Given the description of an element on the screen output the (x, y) to click on. 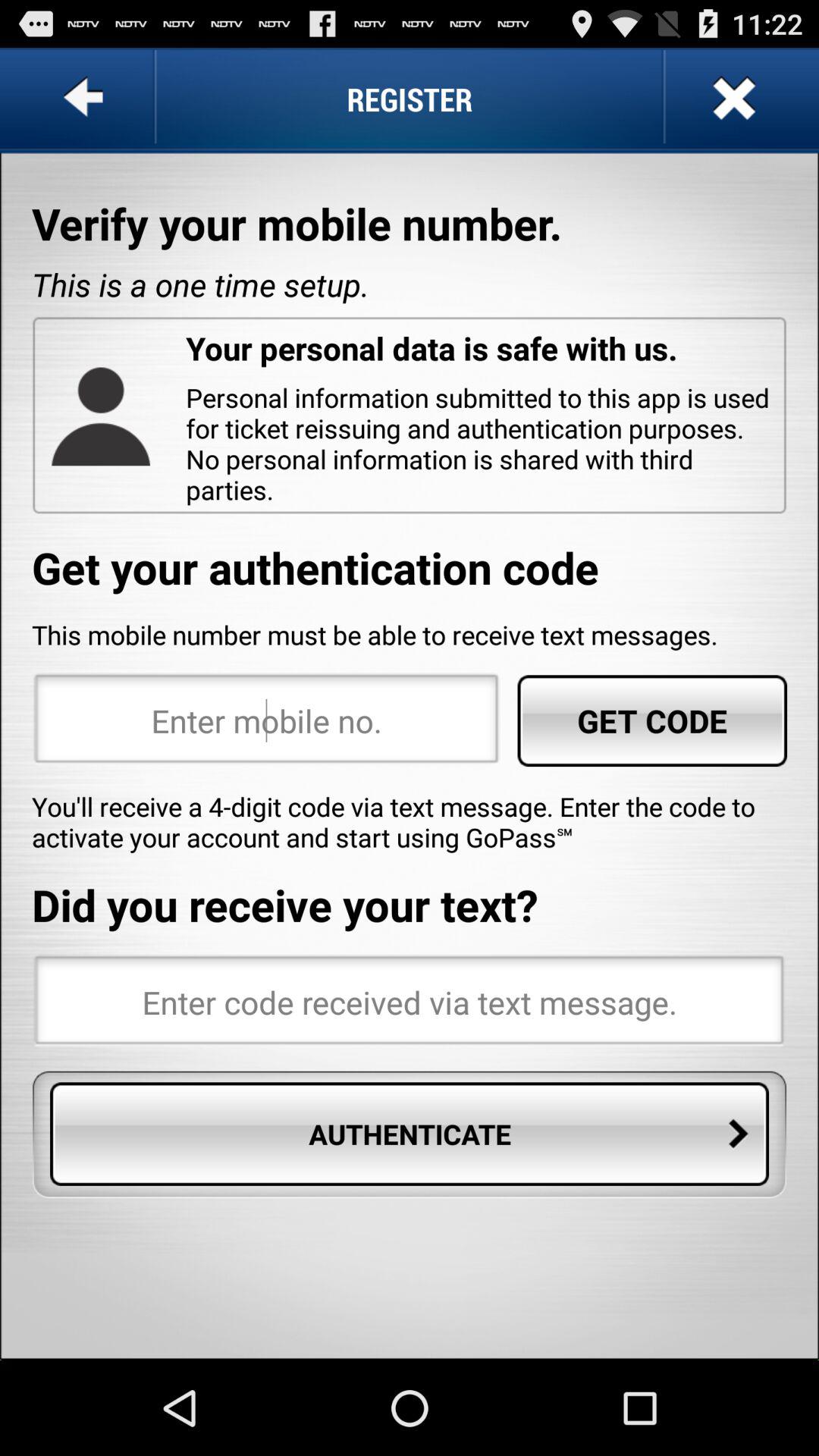
close page (732, 99)
